Given the description of an element on the screen output the (x, y) to click on. 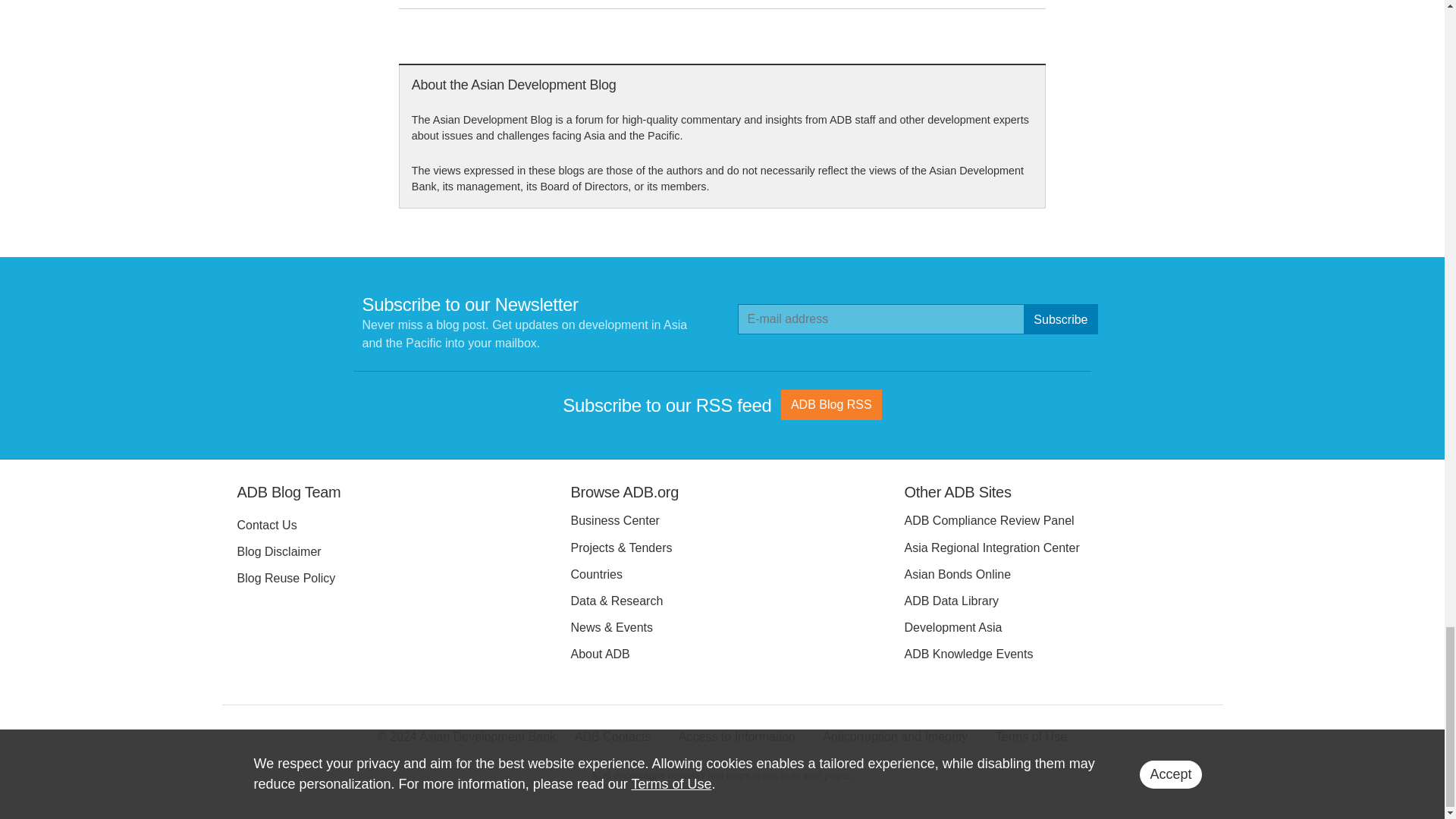
Subscribe (1060, 318)
